Given the description of an element on the screen output the (x, y) to click on. 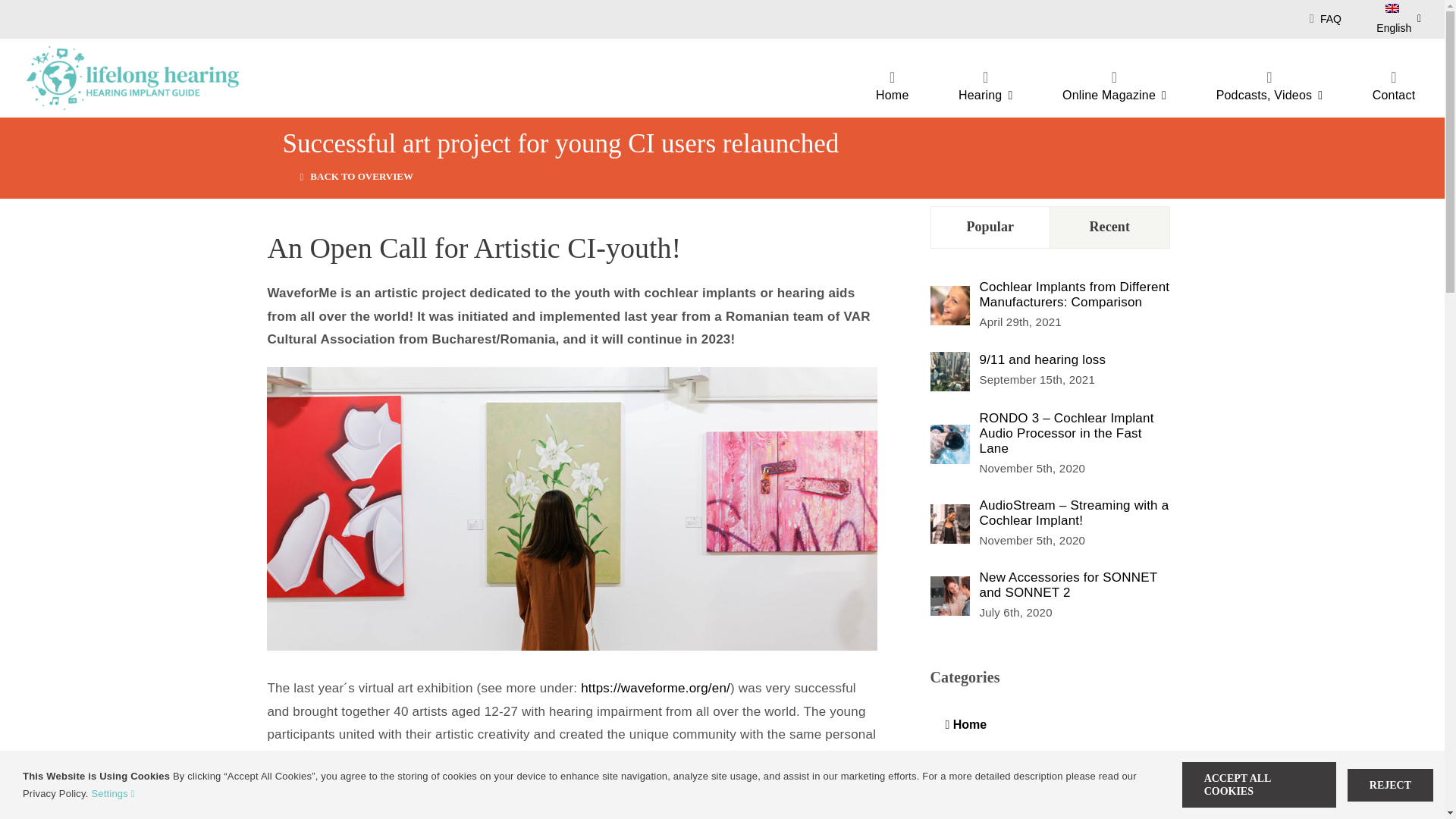
Online Magazine (1114, 87)
Podcasts, Videos (1268, 87)
Contact (1394, 87)
Home (891, 87)
FAQ (1328, 18)
Hearing (984, 87)
BACK TO OVERVIEW (355, 176)
